Given the description of an element on the screen output the (x, y) to click on. 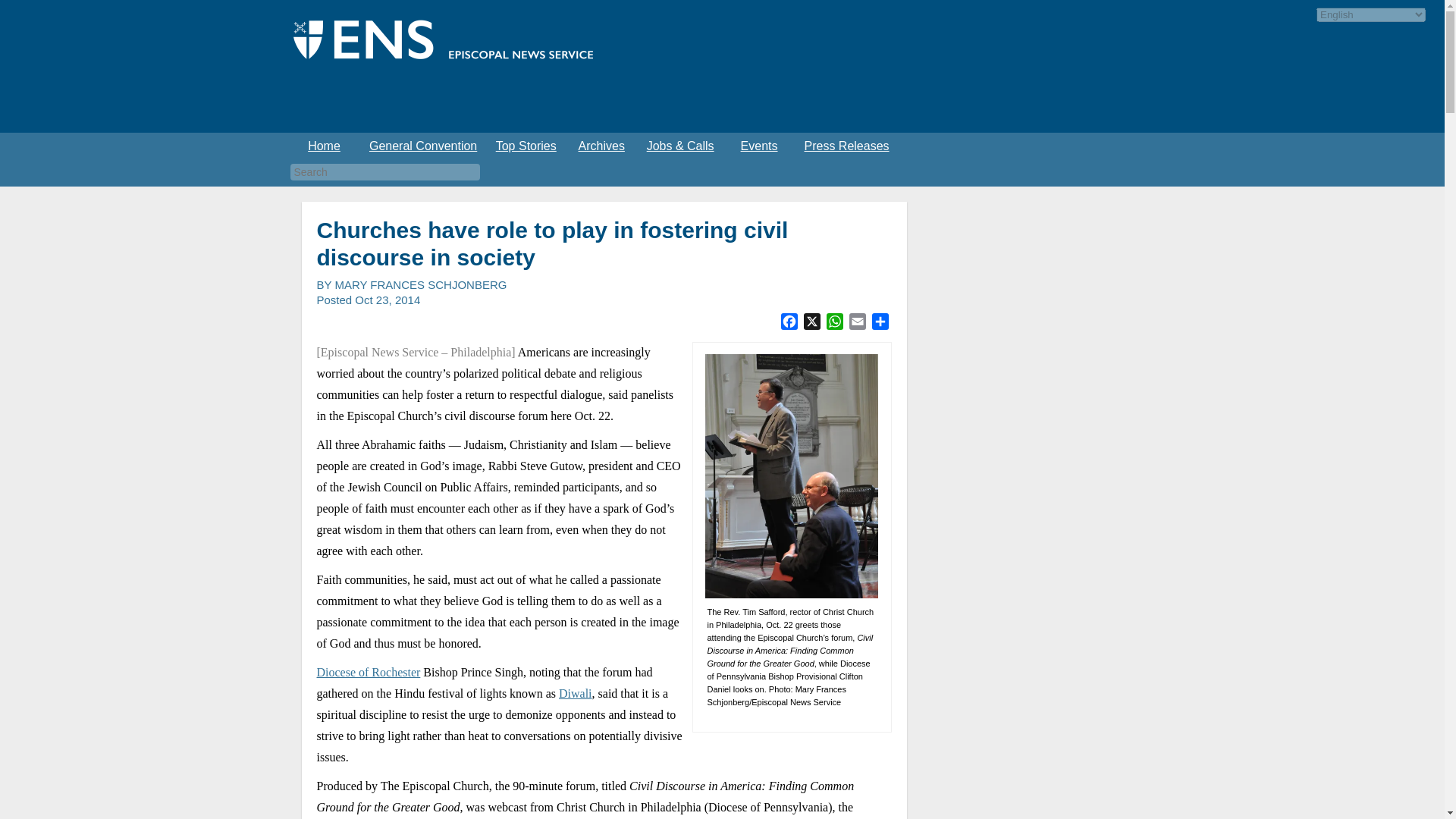
General Convention (423, 145)
Share (880, 323)
Facebook (788, 323)
Search for: (384, 171)
Email (857, 323)
X (812, 323)
Archives (601, 145)
WhatsApp (834, 323)
Diocese of Rochester (368, 671)
Events (759, 145)
Diwali (575, 693)
X (812, 323)
Email (857, 323)
WhatsApp (834, 323)
Facebook (788, 323)
